Given the description of an element on the screen output the (x, y) to click on. 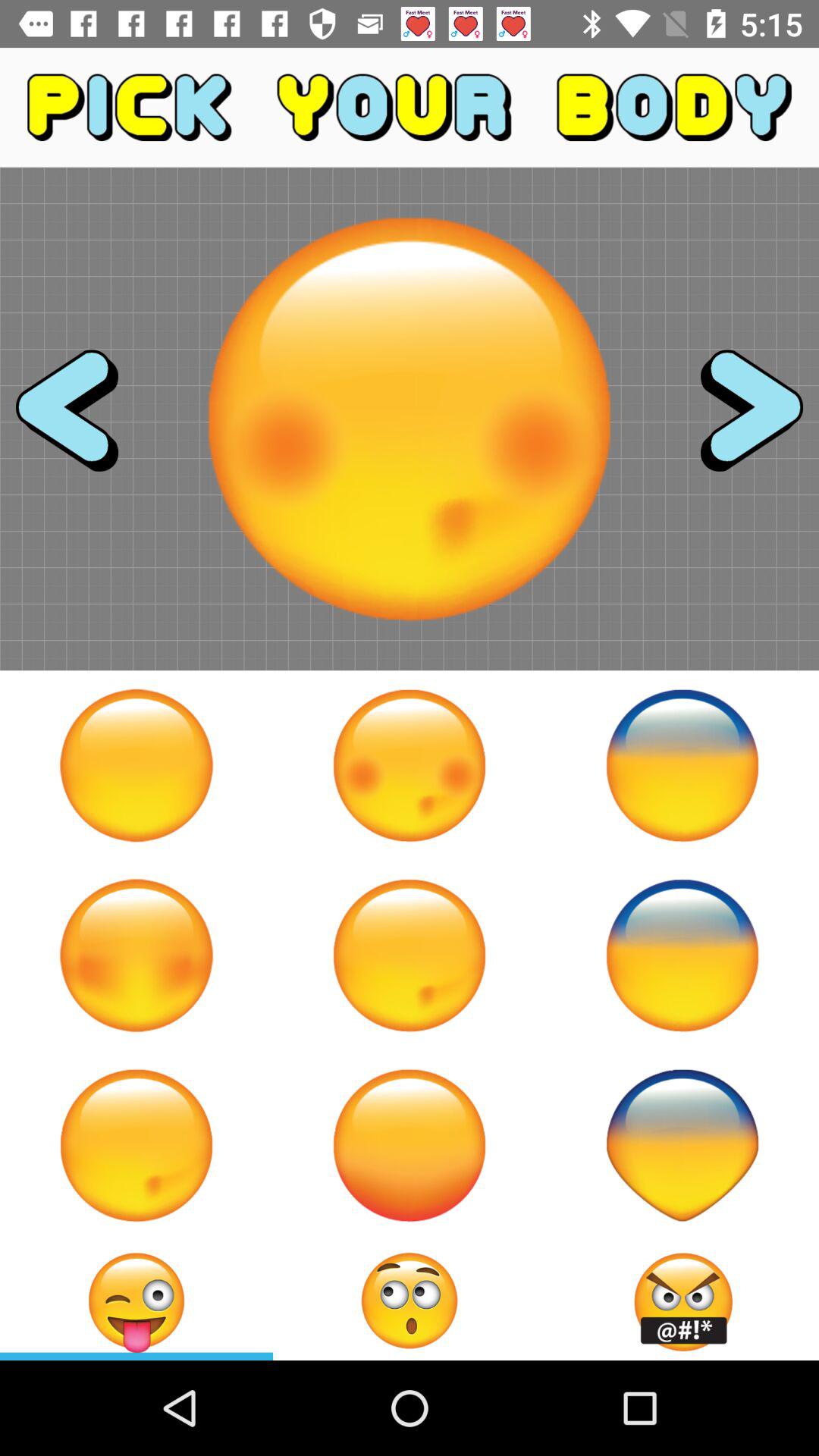
tag option (136, 1300)
